Given the description of an element on the screen output the (x, y) to click on. 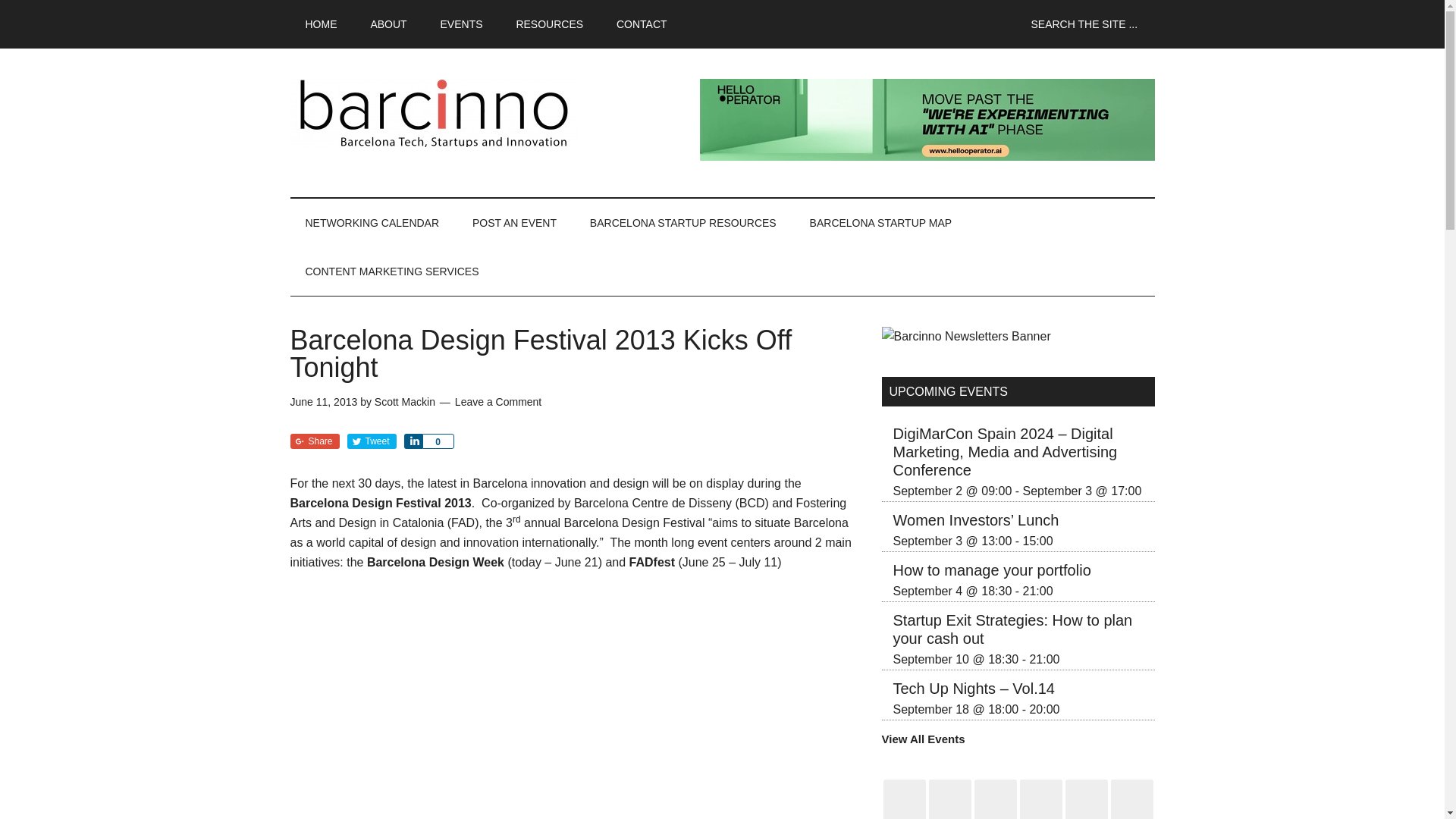
CONTENT MARKETING SERVICES (391, 271)
HOME (320, 24)
POST AN EVENT (514, 223)
CONTACT (641, 24)
Scott Mackin (404, 401)
NETWORKING CALENDAR (371, 223)
ABOUT (388, 24)
Barcinno (433, 112)
RESOURCES (549, 24)
